Given the description of an element on the screen output the (x, y) to click on. 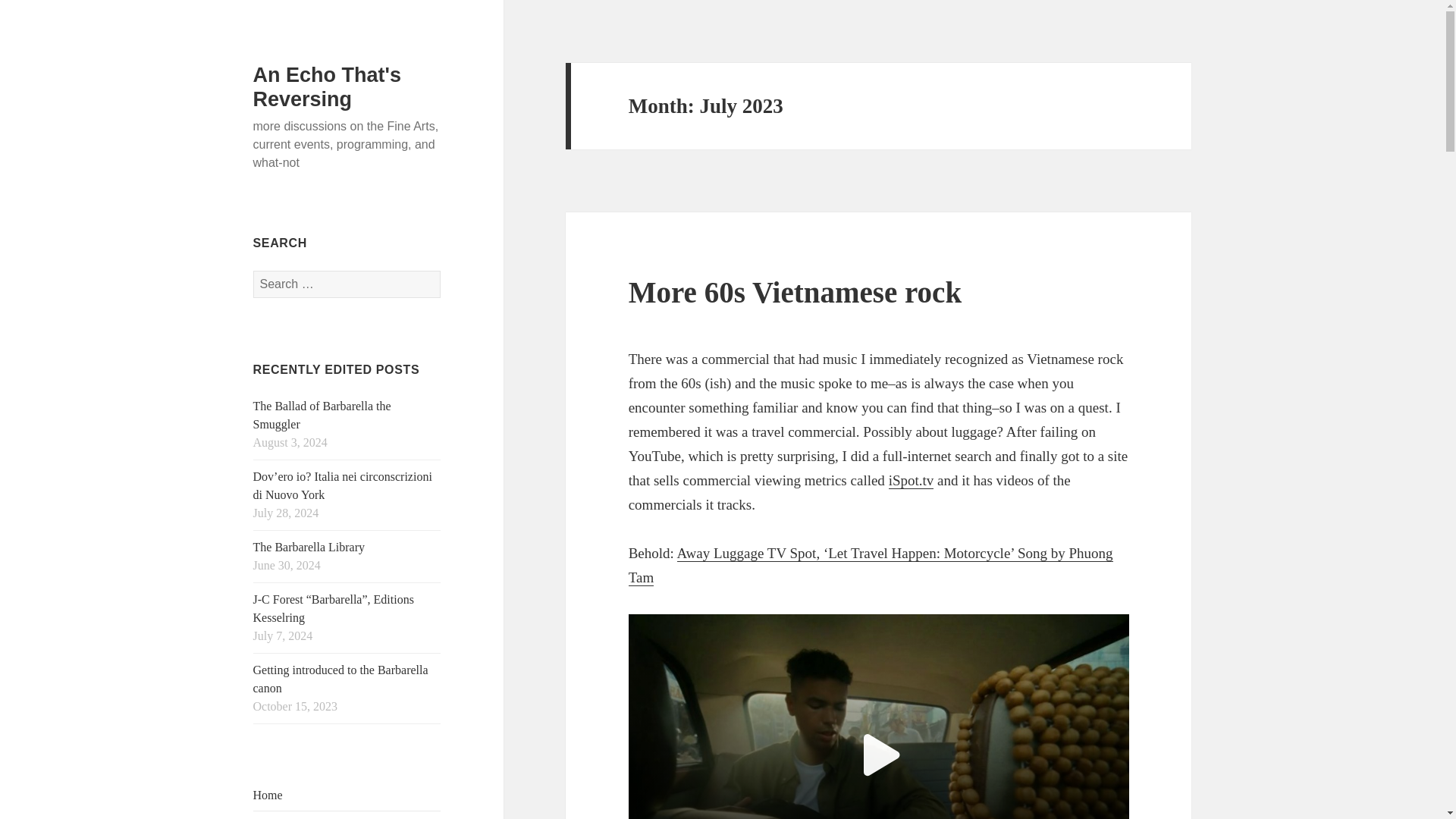
The Ballad of Barbarella the Smuggler (322, 414)
Getting introduced to the Barbarella canon (340, 678)
An Echo That's Reversing (327, 86)
Home (267, 794)
The Barbarella Library (309, 546)
